Given the description of an element on the screen output the (x, y) to click on. 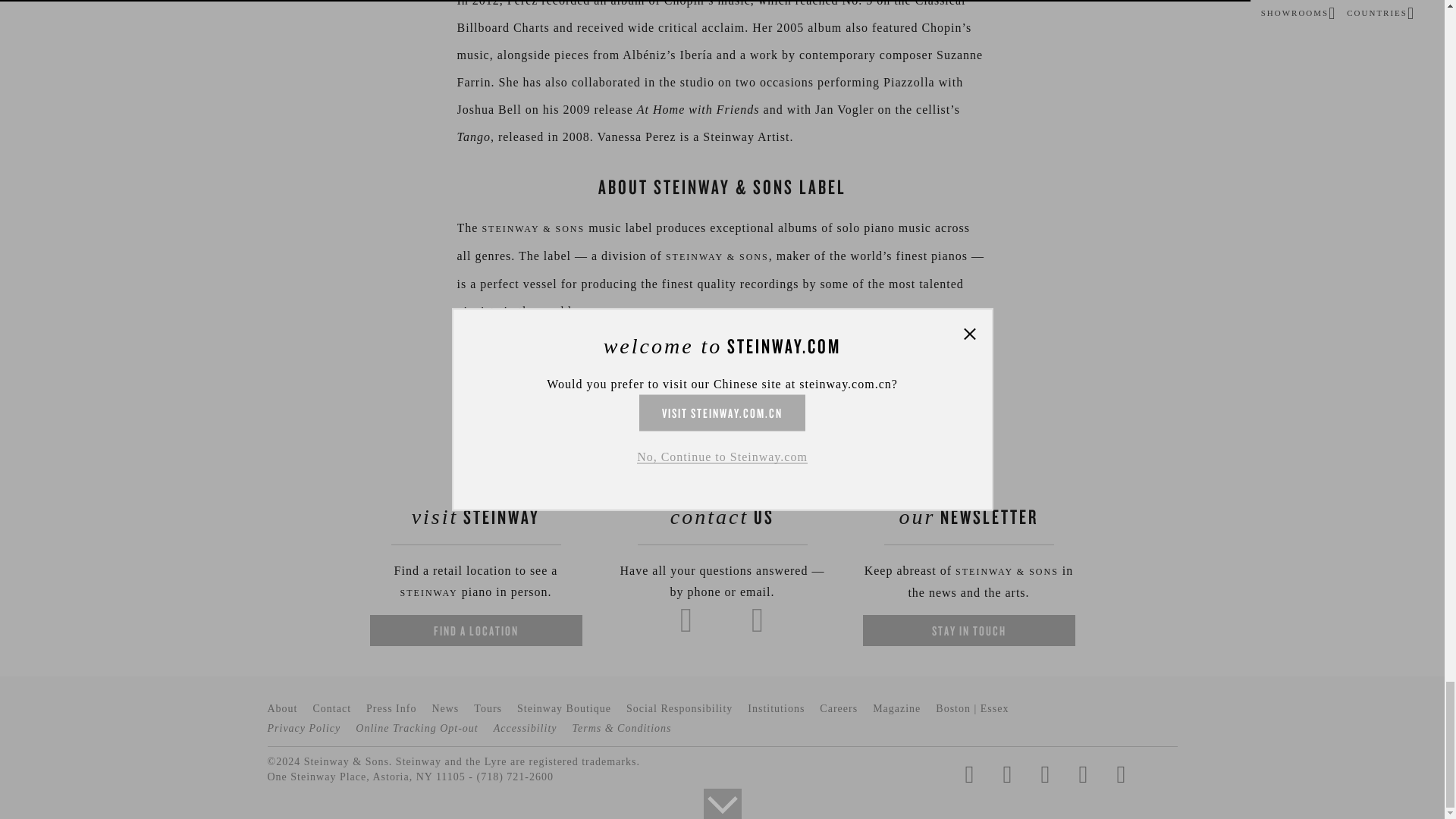
Press Info (391, 708)
STAY IN TOUCH (969, 630)
About (281, 708)
News (444, 708)
Tours (488, 708)
Contact (331, 708)
FIND A LOCATION (475, 630)
Steinway Boutique (563, 708)
